Given the description of an element on the screen output the (x, y) to click on. 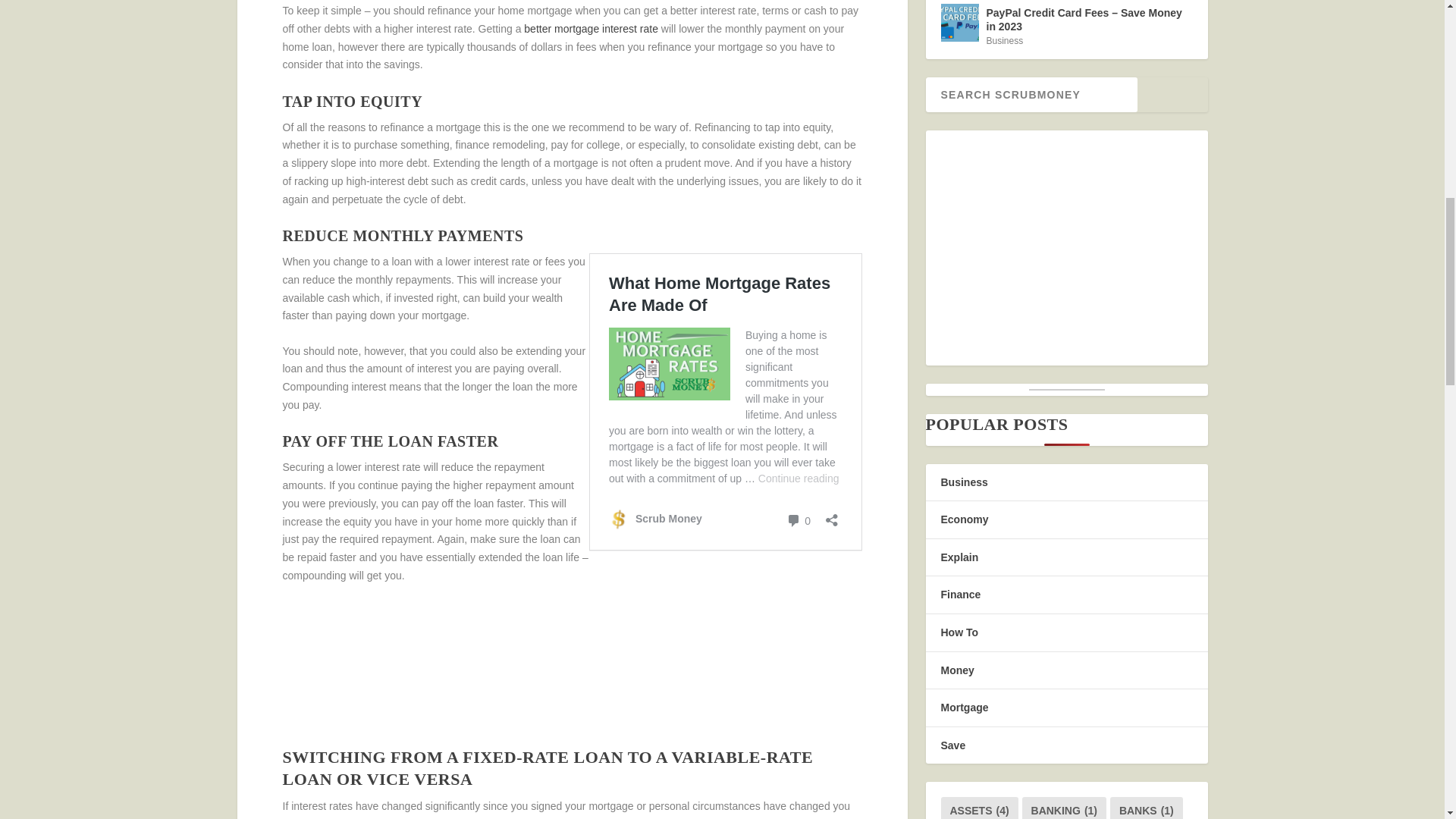
Advertisement (571, 673)
better mortgage interest rate (591, 28)
Mortgage Rates Interest Rate (591, 28)
